Given the description of an element on the screen output the (x, y) to click on. 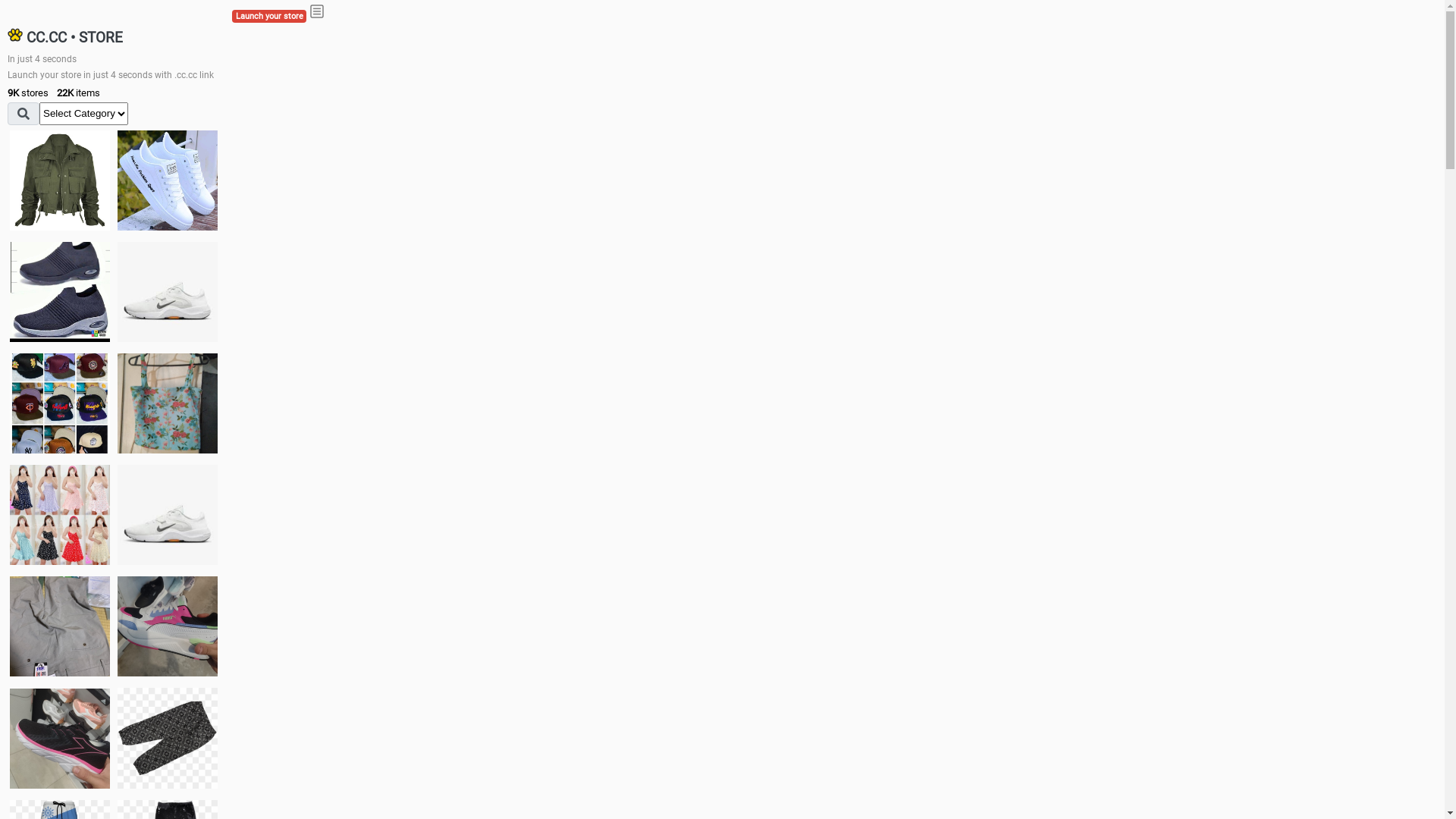
Zapatillas pumas Element type: hover (167, 626)
Shoes for boys Element type: hover (167, 291)
Short pant Element type: hover (167, 737)
Dress/square nect top Element type: hover (59, 514)
Launch your store Element type: text (269, 15)
shoes for boys Element type: hover (59, 291)
Things we need Element type: hover (59, 403)
Shoes Element type: hover (167, 514)
Zapatillas Element type: hover (59, 738)
jacket Element type: hover (59, 180)
white shoes Element type: hover (167, 180)
Ukay cloth Element type: hover (167, 403)
